Given the description of an element on the screen output the (x, y) to click on. 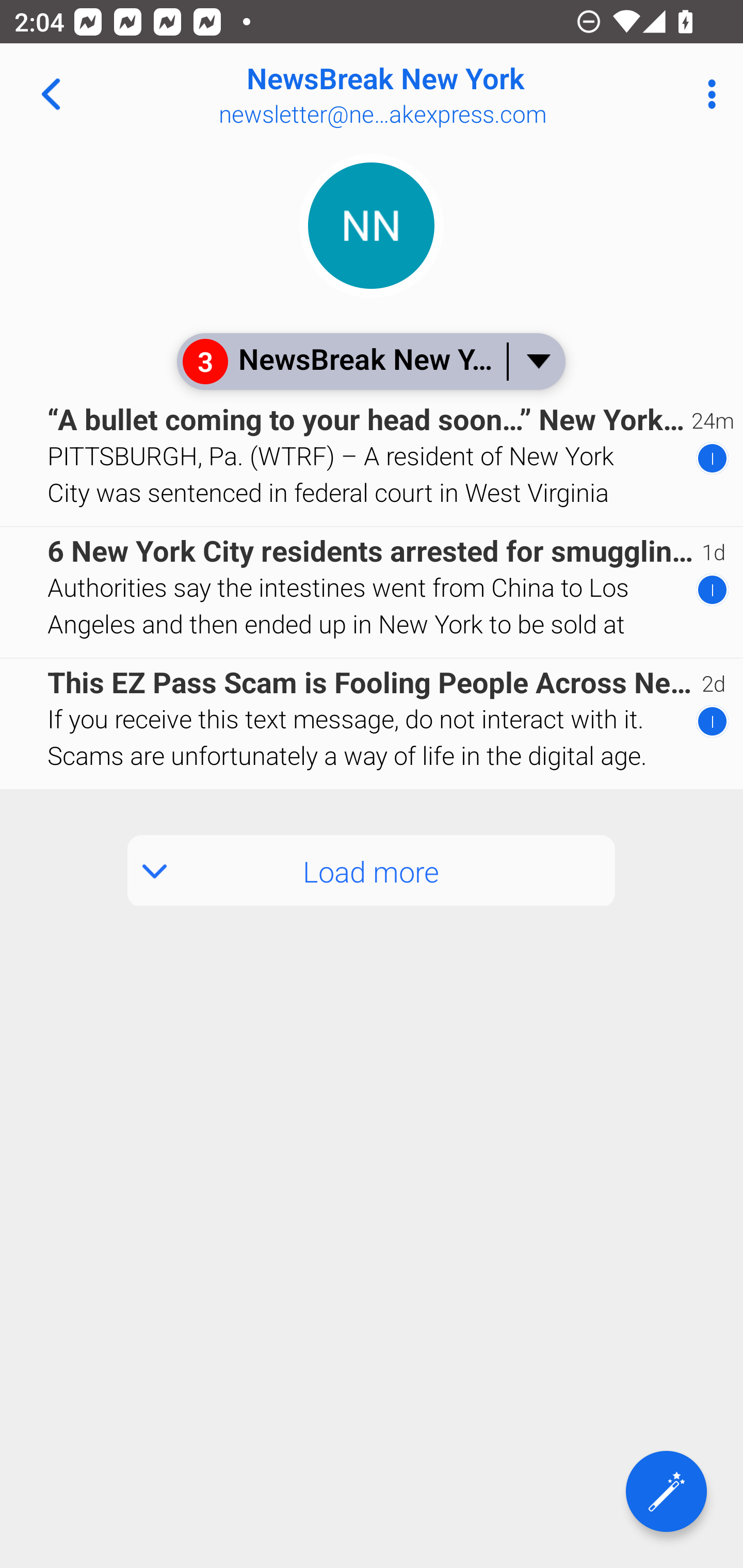
Navigate up (50, 93)
NewsBreak New York newsletter@newsbreakexpress.com (436, 93)
More Options (706, 93)
3 NewsBreak New York & You (370, 361)
Load more (371, 870)
